Given the description of an element on the screen output the (x, y) to click on. 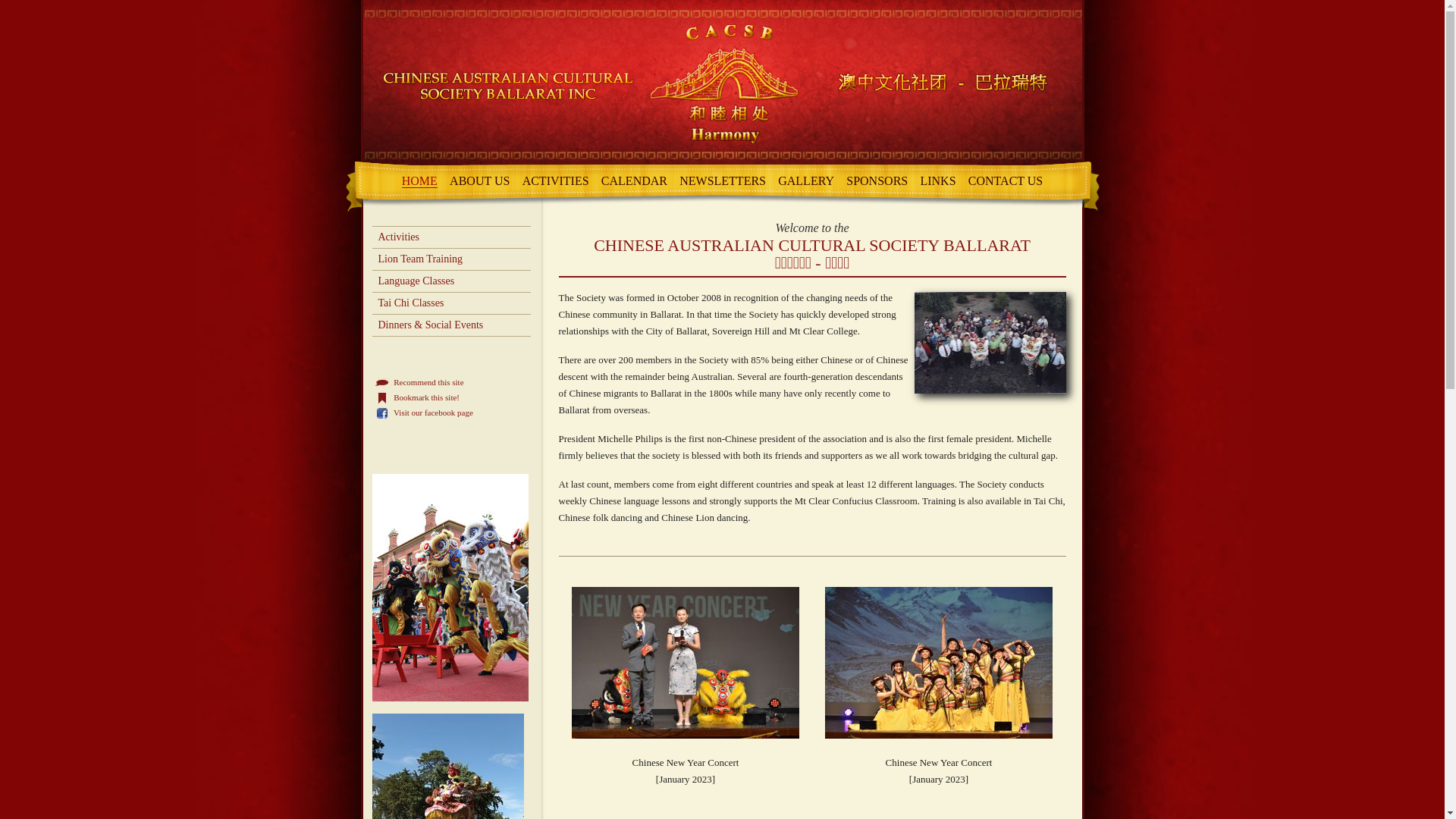
Chinese Ballarat Year of the Rabbit 2023 Element type: hover (685, 662)
Bookmark this site! Element type: text (416, 396)
Chinese Ballarat Year of the Rabbit 2023 Element type: hover (938, 662)
NEWSLETTERS Element type: text (722, 180)
CONTACT US Element type: text (1005, 180)
HOME Element type: text (419, 181)
GALLERY Element type: text (806, 180)
SPONSORS Element type: text (876, 180)
Dinners & Social Events Element type: text (450, 324)
ACTIVITIES Element type: text (555, 180)
Lion Team Training Element type: text (450, 258)
ABOUT US Element type: text (479, 180)
Recommend this site Element type: text (418, 381)
Visit our facebook page Element type: text (423, 412)
CALENDAR Element type: text (634, 180)
LINKS Element type: text (937, 180)
Tai Chi Classes Element type: text (450, 302)
Language Classes Element type: text (450, 280)
Activities Element type: text (450, 236)
Visit our facebook page Element type: hover (382, 413)
